Given the description of an element on the screen output the (x, y) to click on. 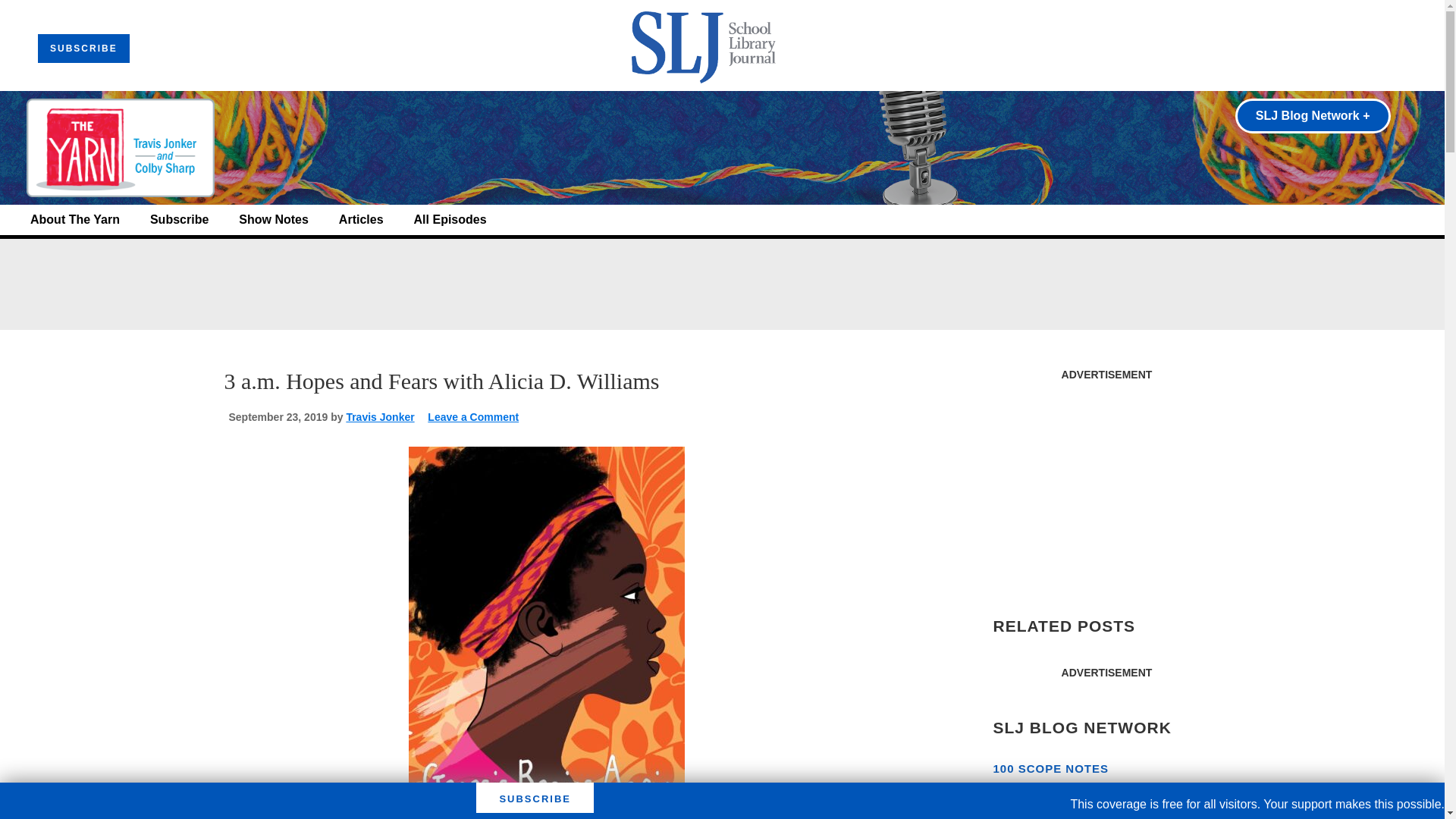
About The Yarn (74, 219)
3rd party ad content (1106, 483)
Show Notes (273, 219)
Travis Jonker (379, 417)
3rd party ad content (721, 284)
SUBSCRIBE (83, 48)
All Episodes (449, 219)
Leave a Comment (473, 417)
Subscribe (178, 219)
Articles (361, 219)
